Given the description of an element on the screen output the (x, y) to click on. 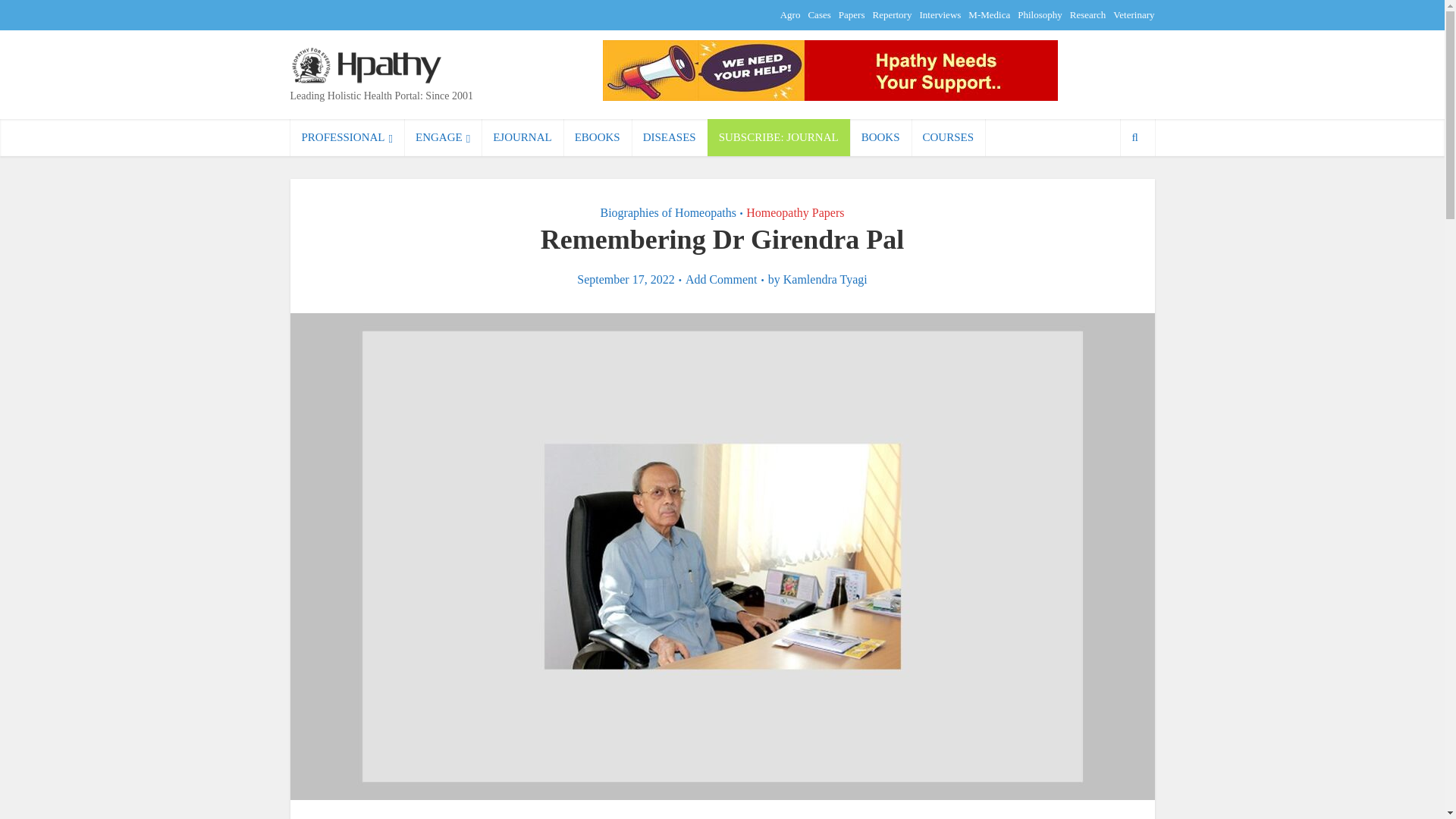
Agro (790, 14)
DISEASES (669, 137)
SUBSCRIBE: JOURNAL (778, 137)
Papers (851, 14)
Interviews (939, 14)
PROFESSIONAL (346, 137)
COURSES (948, 137)
Philosophy (1039, 14)
ENGAGE (442, 137)
Repertory (891, 14)
